Given the description of an element on the screen output the (x, y) to click on. 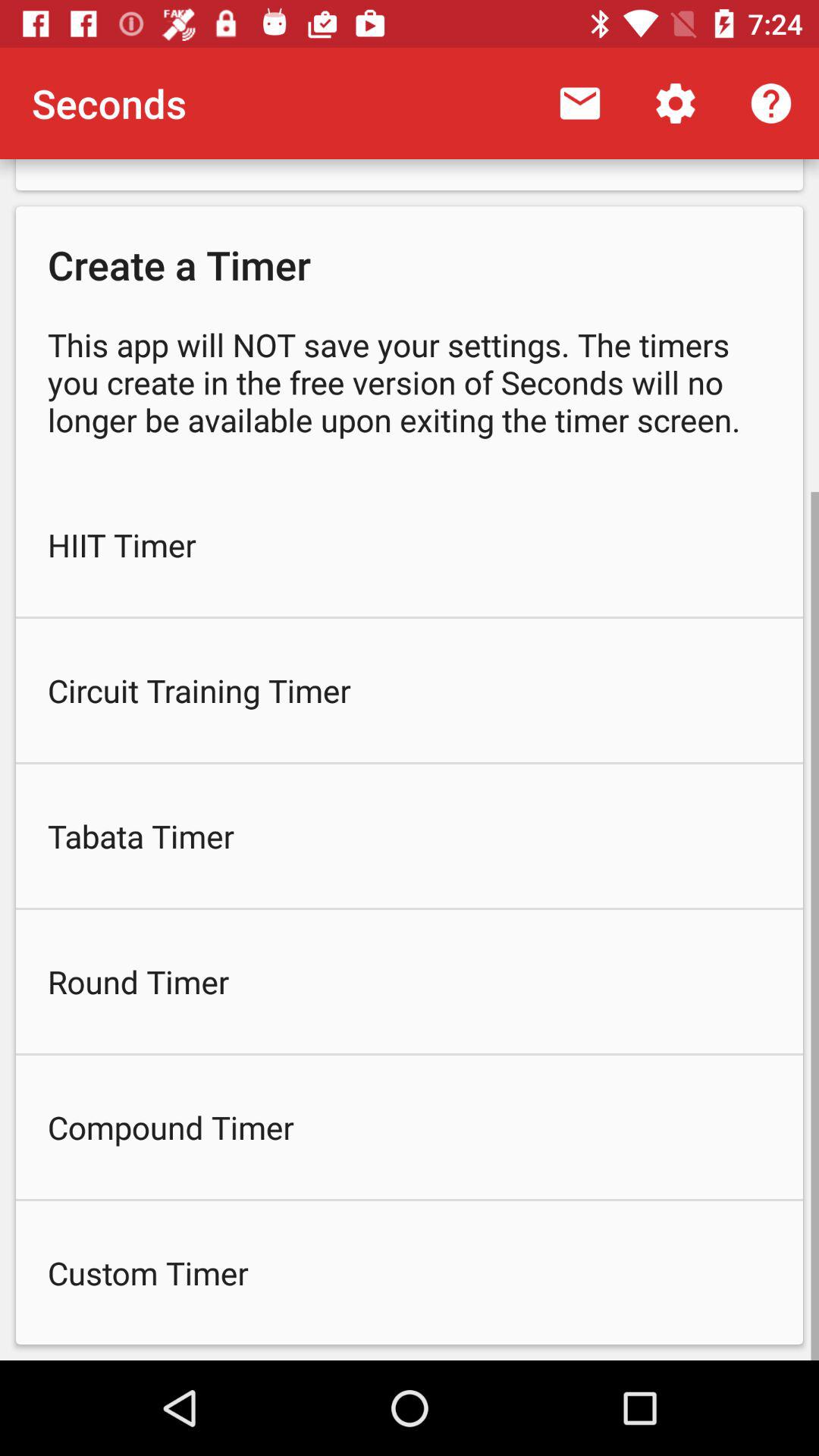
select item above create a timer icon (771, 103)
